Given the description of an element on the screen output the (x, y) to click on. 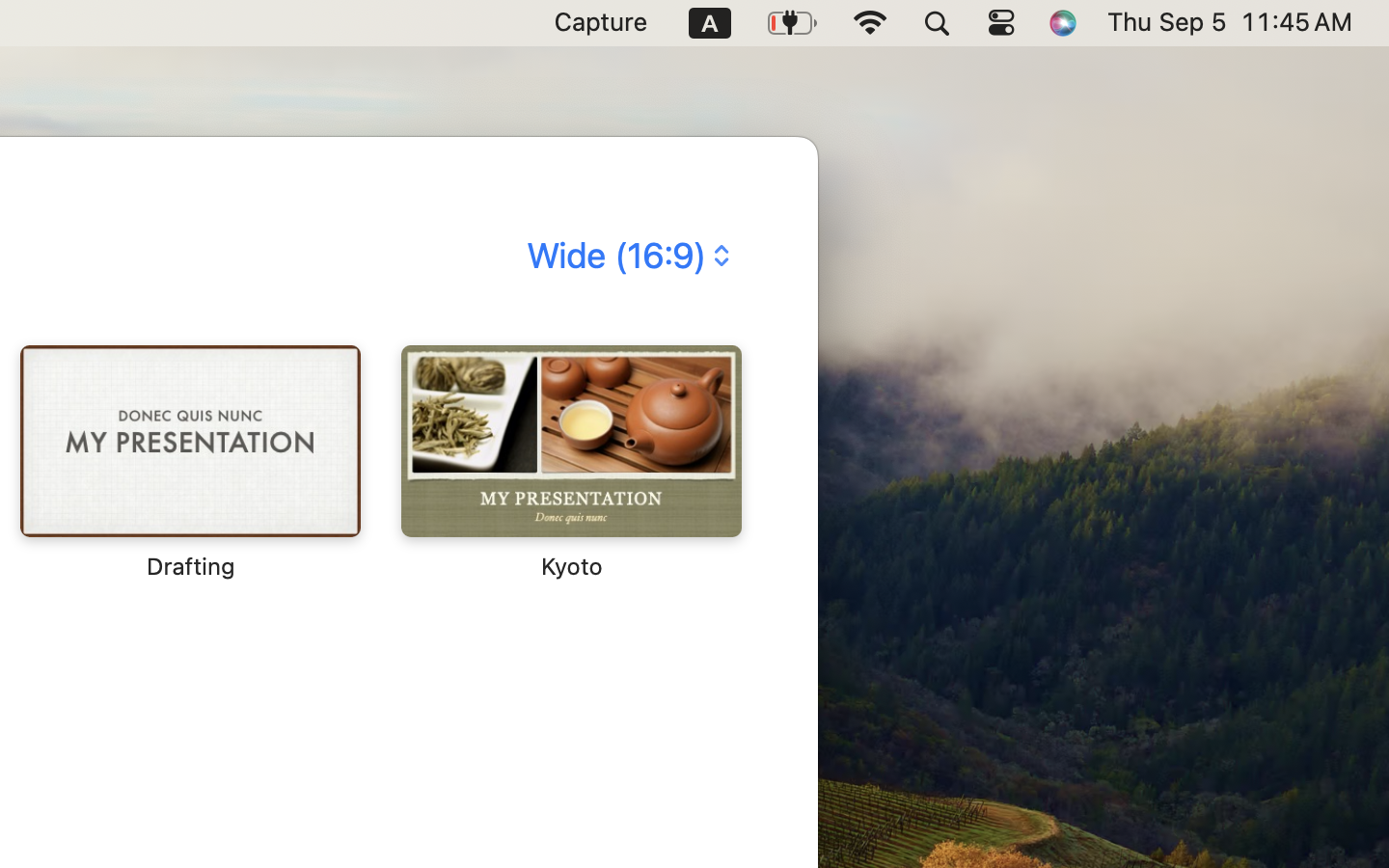
Wide (16:9) Element type: AXPopUpButton (625, 255)
‎⁨Drafting⁩ Element type: AXButton (189, 462)
‎⁨Kyoto⁩ Element type: AXButton (569, 462)
